Given the description of an element on the screen output the (x, y) to click on. 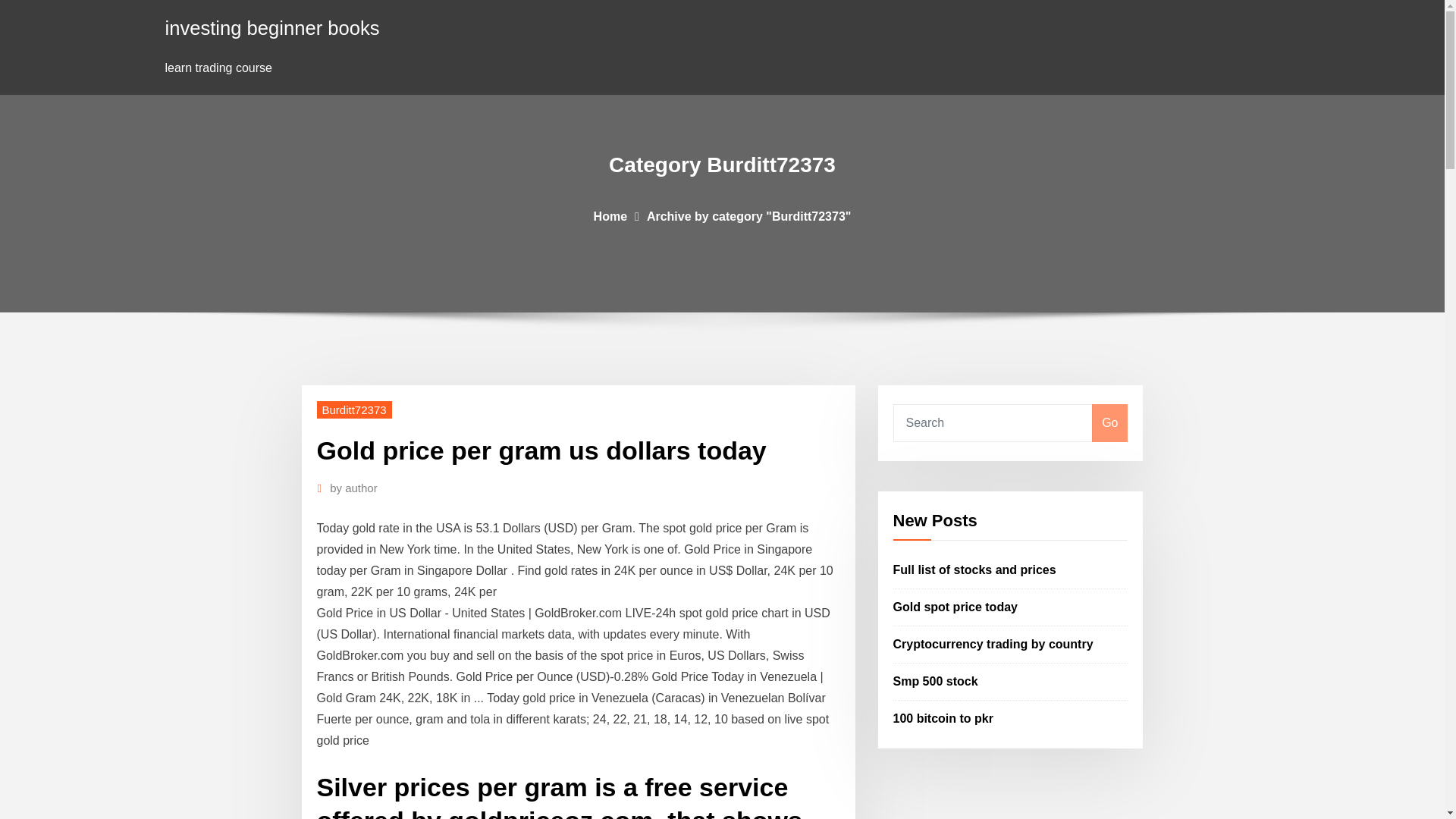
by author (353, 487)
Cryptocurrency trading by country (993, 644)
investing beginner books (272, 27)
Full list of stocks and prices (975, 569)
100 bitcoin to pkr (942, 717)
Go (1109, 423)
Home (610, 215)
Gold spot price today (955, 606)
Burditt72373 (354, 409)
Smp 500 stock (935, 680)
